Given the description of an element on the screen output the (x, y) to click on. 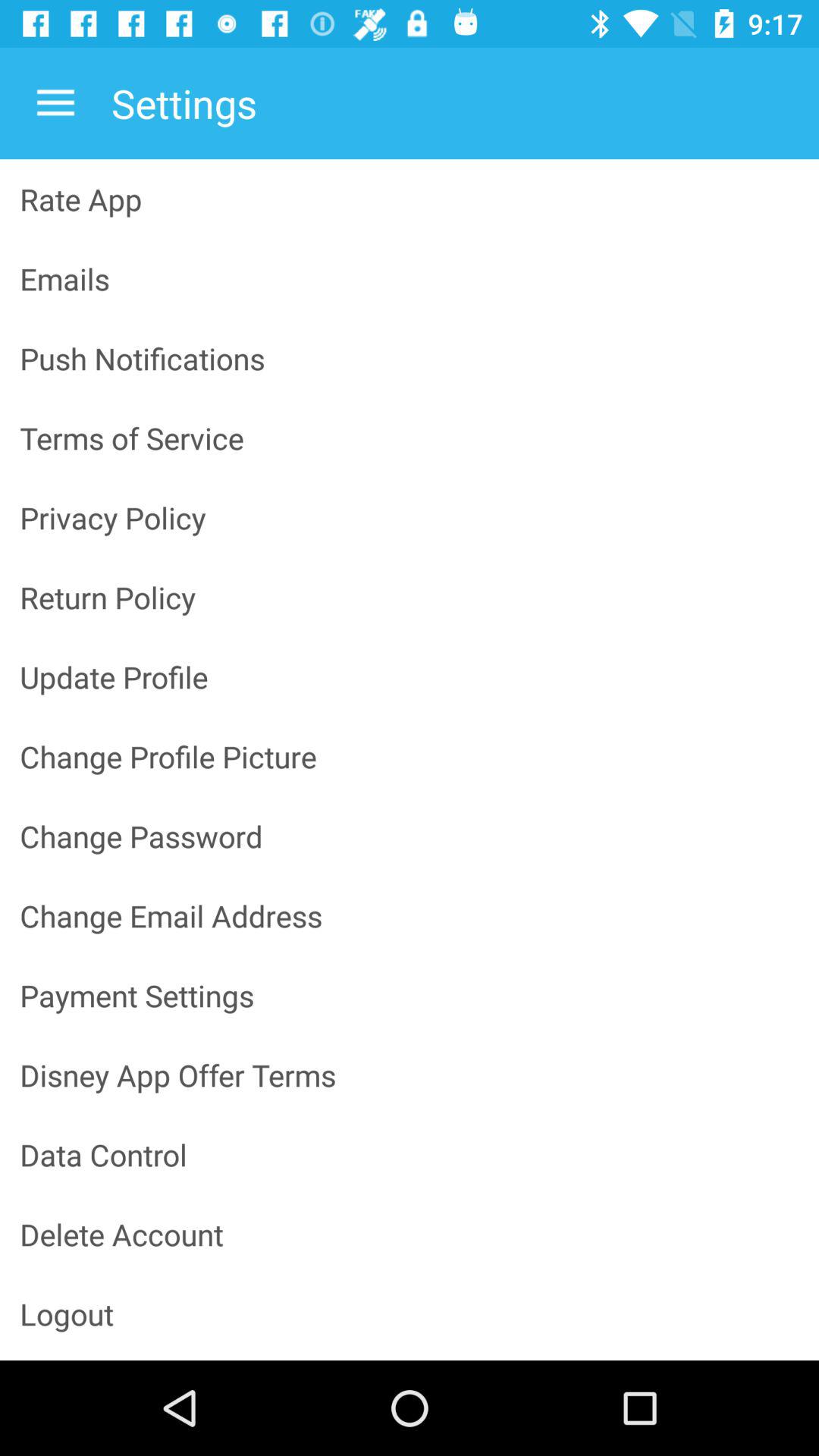
jump to the payment settings icon (409, 995)
